Given the description of an element on the screen output the (x, y) to click on. 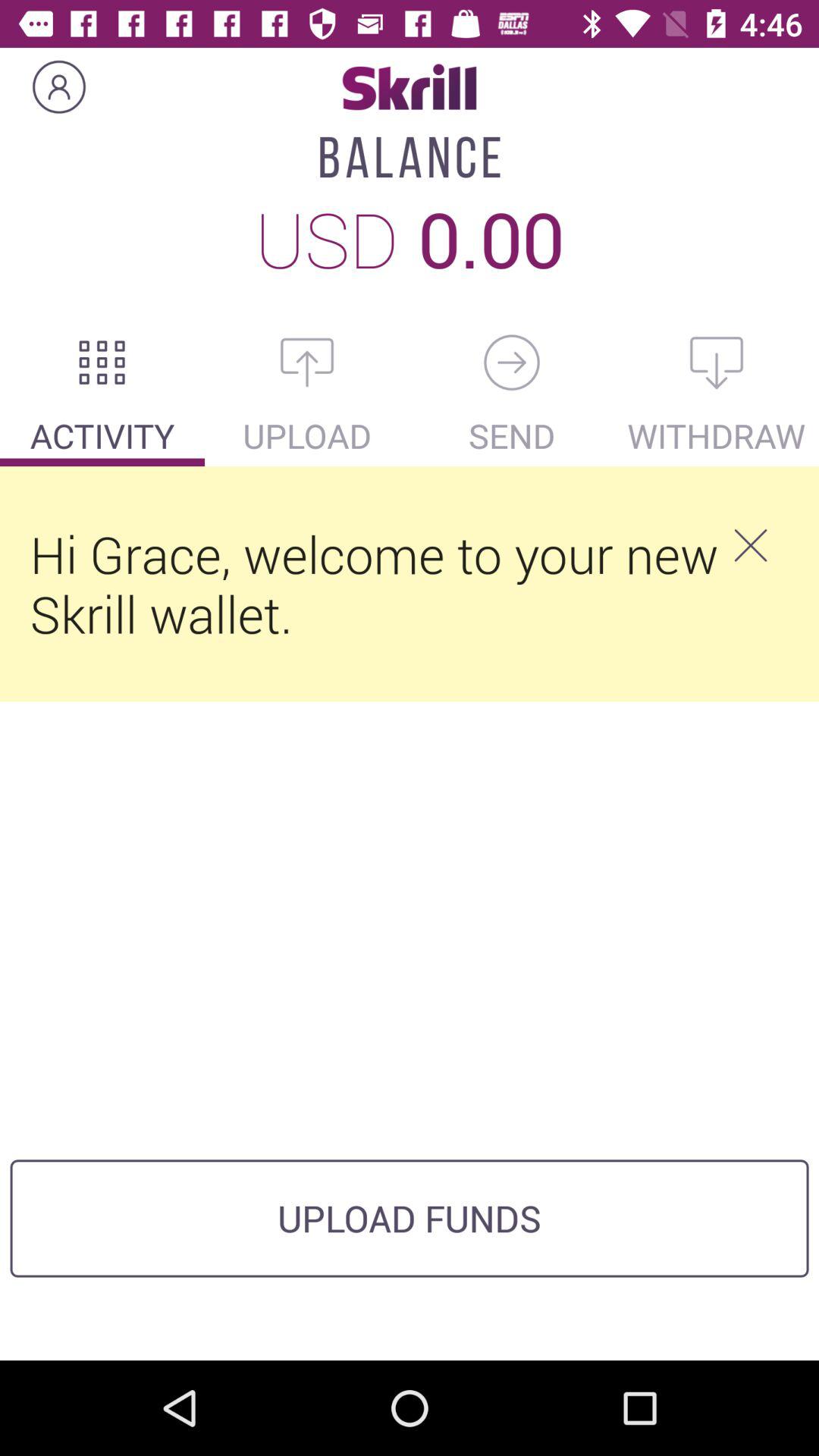
withdraw money (716, 362)
